Given the description of an element on the screen output the (x, y) to click on. 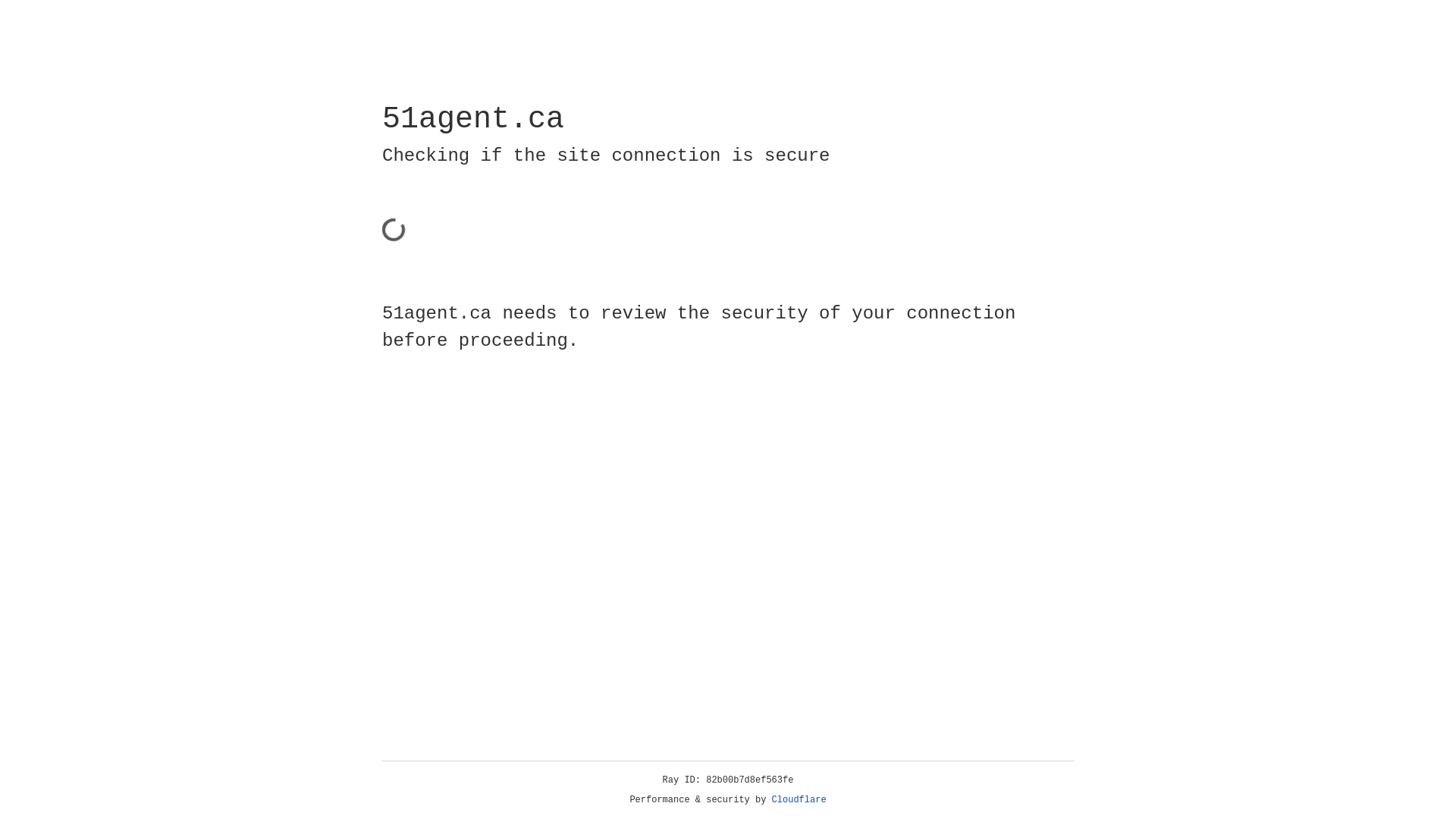
Cloudflare Element type: text (798, 799)
